Given the description of an element on the screen output the (x, y) to click on. 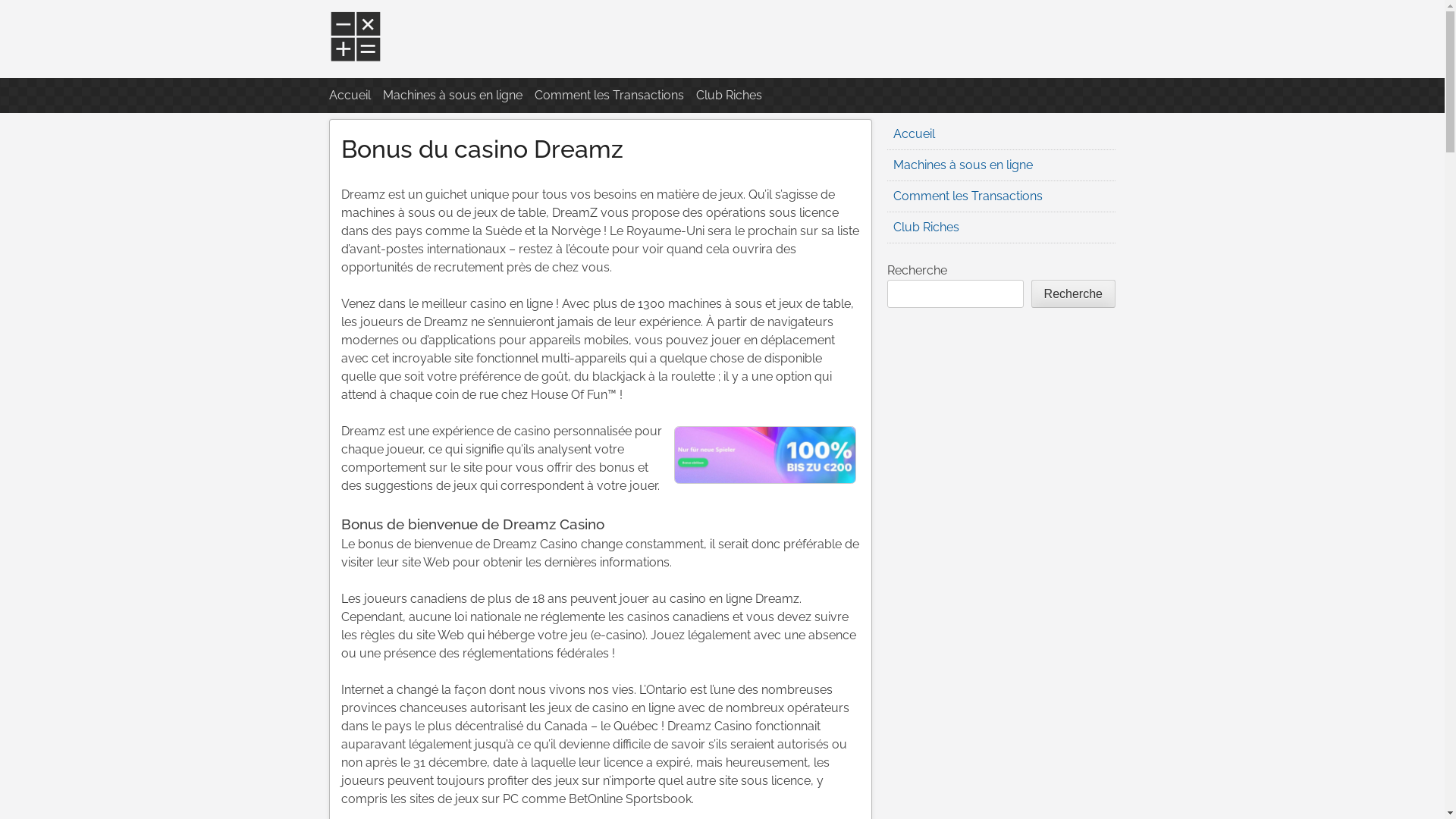
Comment les Transactions Element type: text (609, 95)
Recherche Element type: text (1073, 293)
Club Riches Element type: text (729, 95)
Comment les Transactions Element type: text (967, 195)
Accueil Element type: text (349, 95)
Club Riches Element type: text (926, 226)
Accueil Element type: text (914, 133)
Skip to content Element type: text (328, 9)
